Given the description of an element on the screen output the (x, y) to click on. 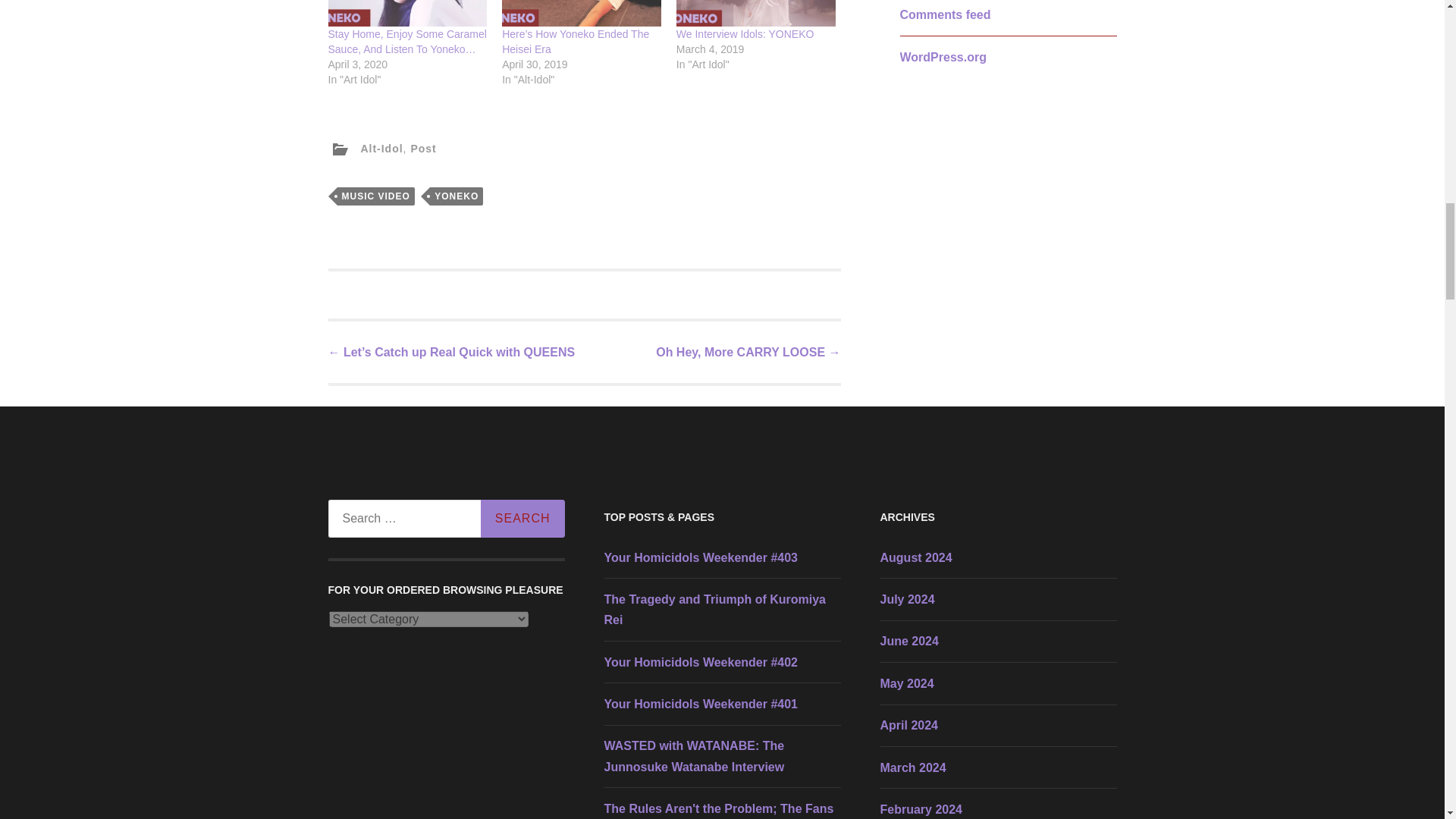
Search (522, 518)
Post (422, 148)
YONEKO (456, 196)
Alt-Idol (381, 148)
We Interview Idols: YONEKO (745, 33)
We Interview Idols: YONEKO (745, 33)
MUSIC VIDEO (374, 196)
Search (522, 518)
We Interview Idols: YONEKO (756, 13)
